Given the description of an element on the screen output the (x, y) to click on. 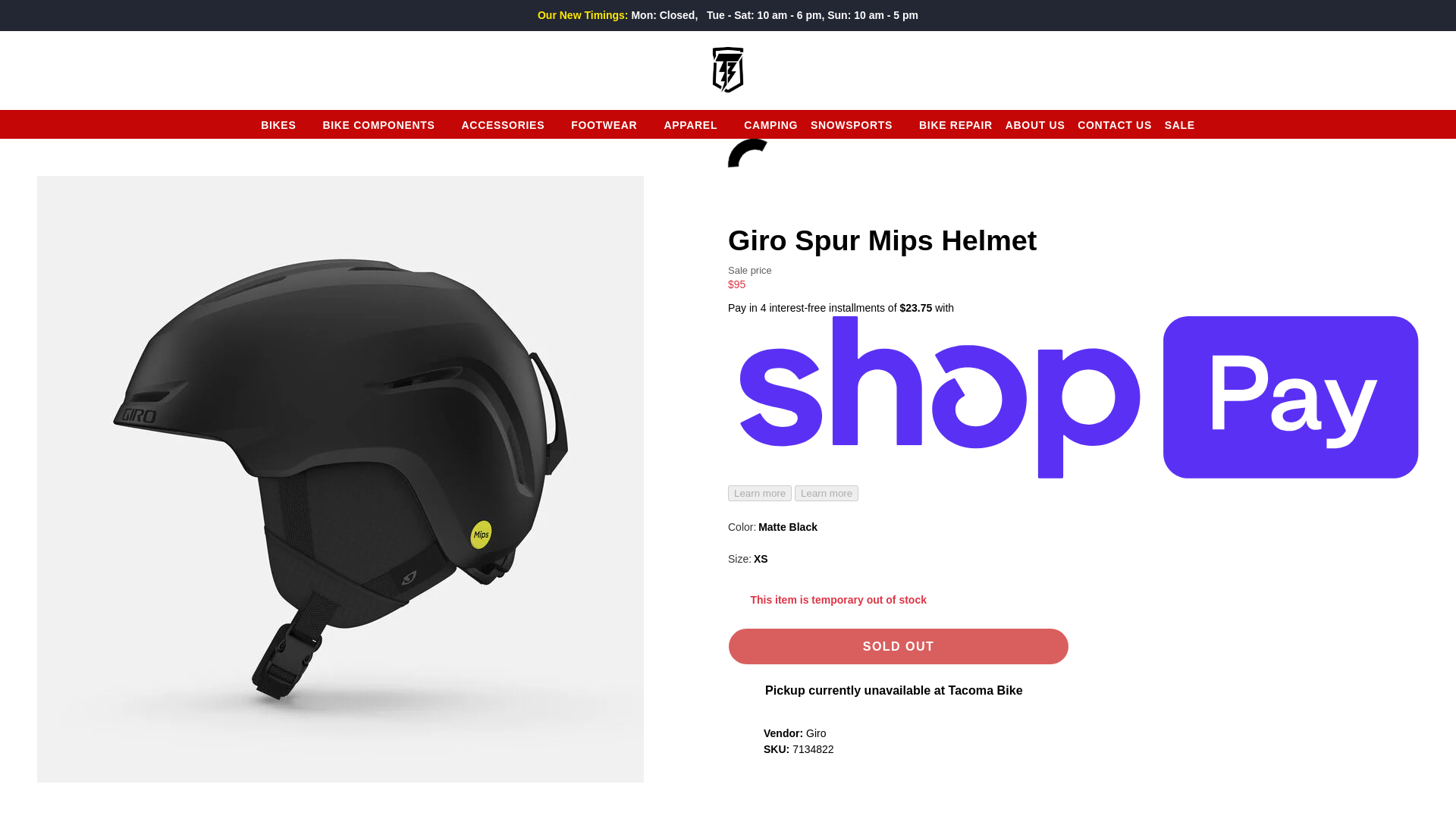
BIKE COMPONENTS (384, 125)
LOG IN (1357, 68)
BIKES (284, 125)
SEARCH (39, 68)
CART (1422, 68)
